Given the description of an element on the screen output the (x, y) to click on. 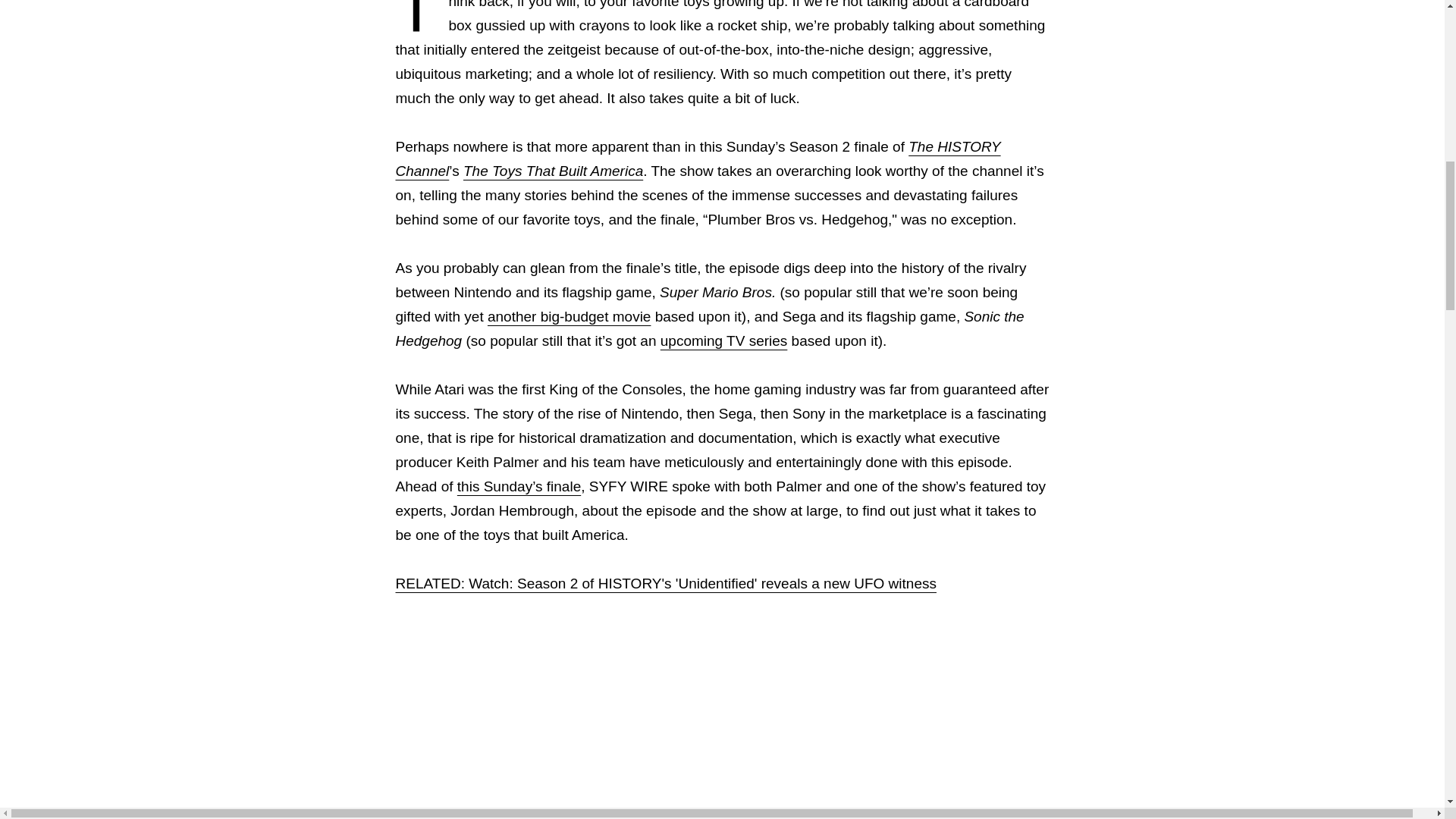
another big-budget movie (568, 316)
YouTube video player (722, 730)
The HISTORY Channel (698, 158)
The Toys That Built America (553, 170)
upcoming TV series (724, 340)
